Given the description of an element on the screen output the (x, y) to click on. 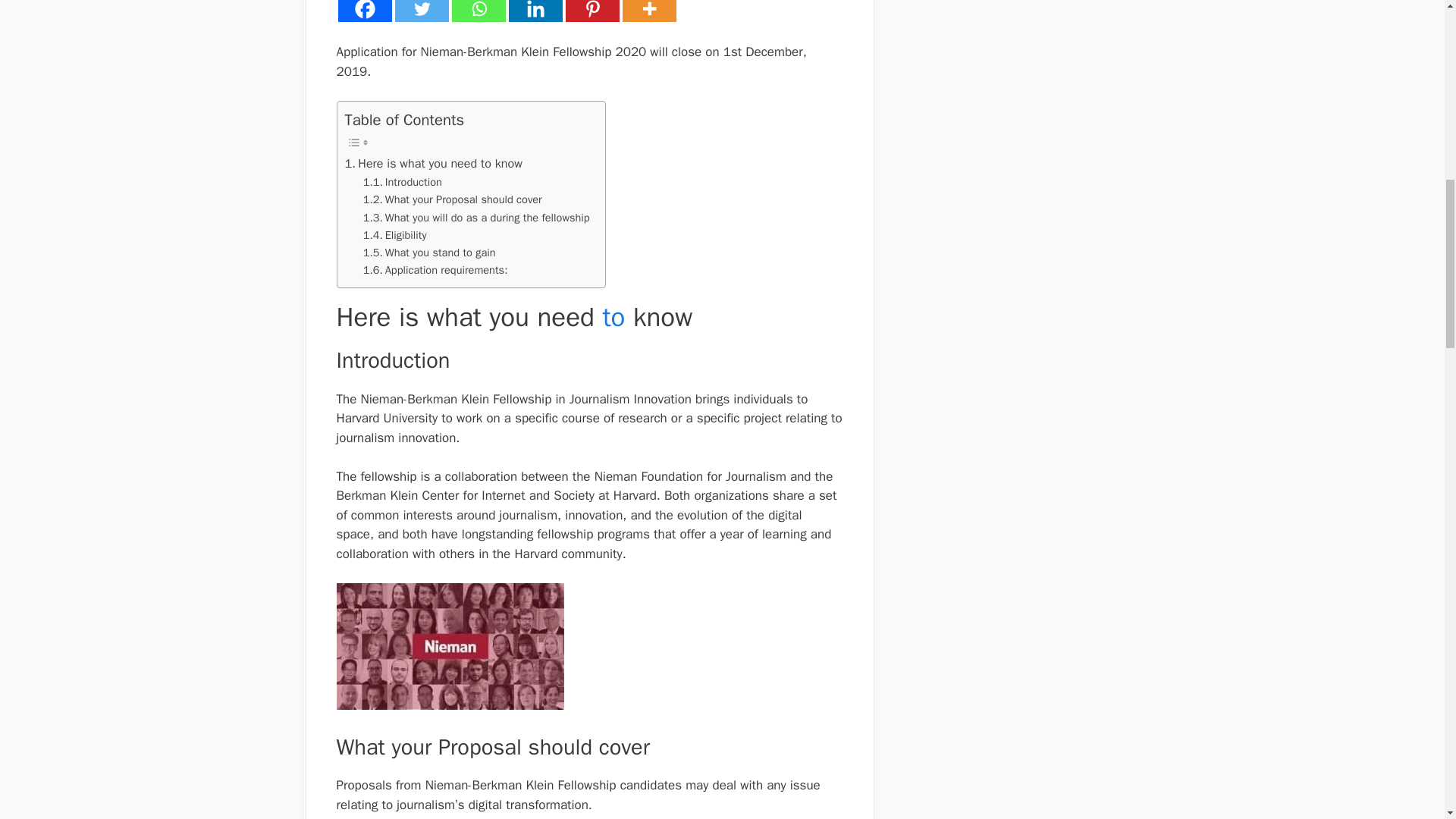
More (648, 11)
Introduction (402, 181)
What you will do as a during the fellowship (475, 217)
Linkedin (535, 11)
Twitter (421, 11)
What you stand to gain (429, 252)
Here is what you need to know (432, 163)
Application requirements: (435, 270)
Pinterest (593, 11)
Here is what you need to know (432, 163)
What your Proposal should cover (451, 199)
Eligibility (394, 235)
Whatsapp (478, 11)
Facebook (364, 11)
Introduction (402, 181)
